Given the description of an element on the screen output the (x, y) to click on. 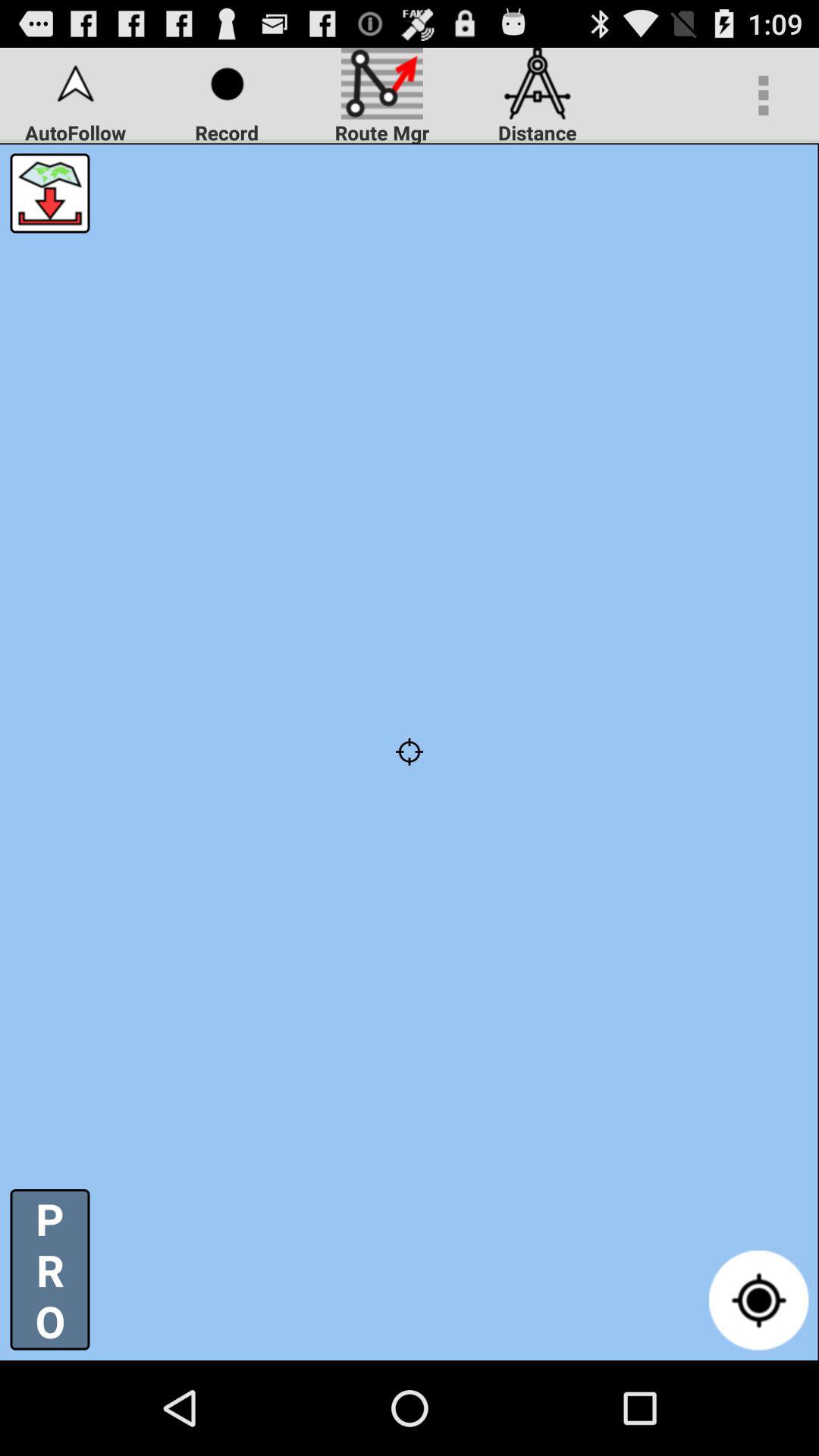
download (49, 193)
